Given the description of an element on the screen output the (x, y) to click on. 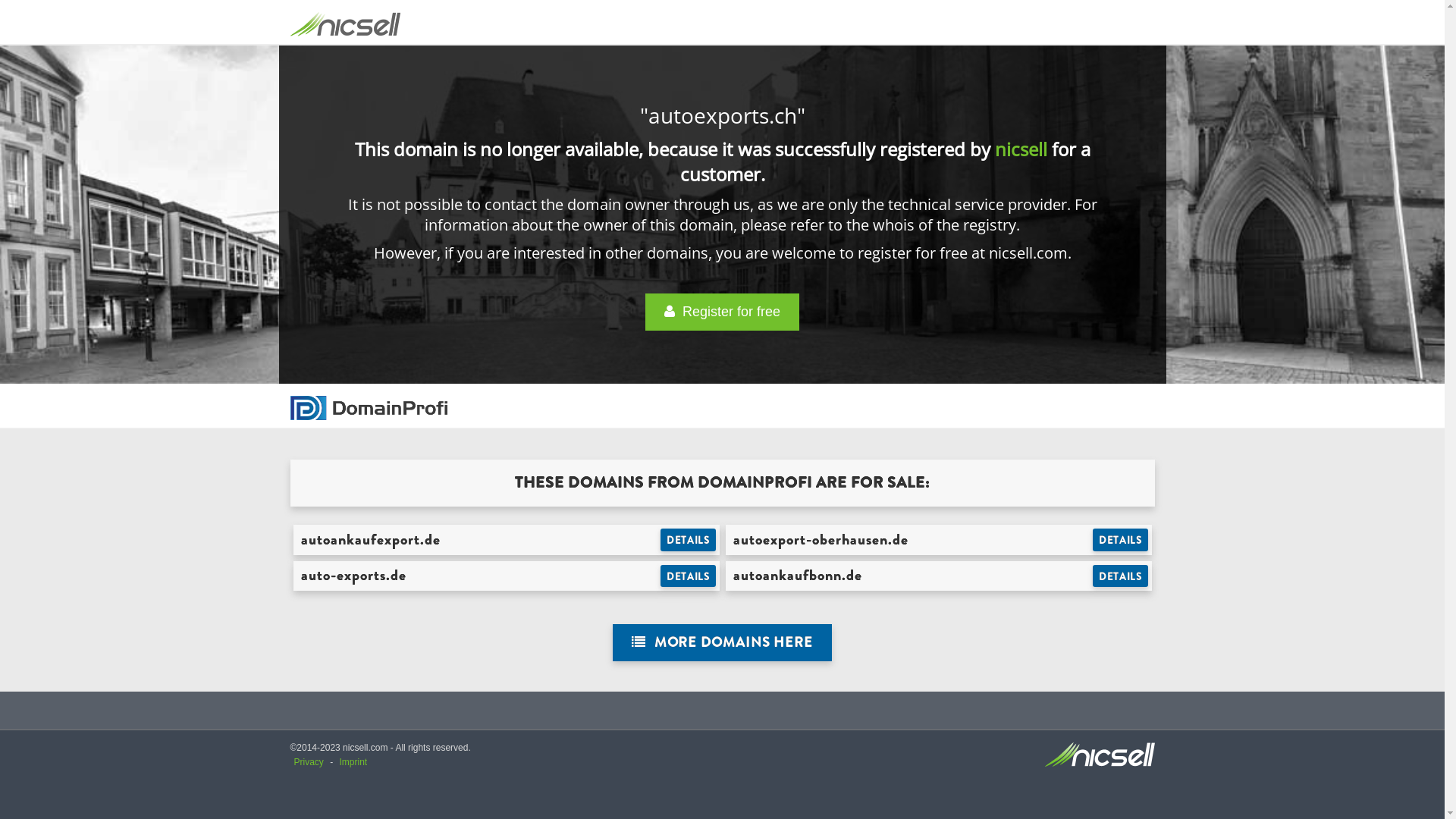
  MORE DOMAINS HERE Element type: text (721, 642)
Imprint Element type: text (353, 761)
nicsell Element type: text (1020, 148)
Privacy Element type: text (308, 761)
  Register for free Element type: text (722, 311)
DETAILS Element type: text (687, 539)
DETAILS Element type: text (1120, 539)
DETAILS Element type: text (1120, 575)
DETAILS Element type: text (687, 575)
